Given the description of an element on the screen output the (x, y) to click on. 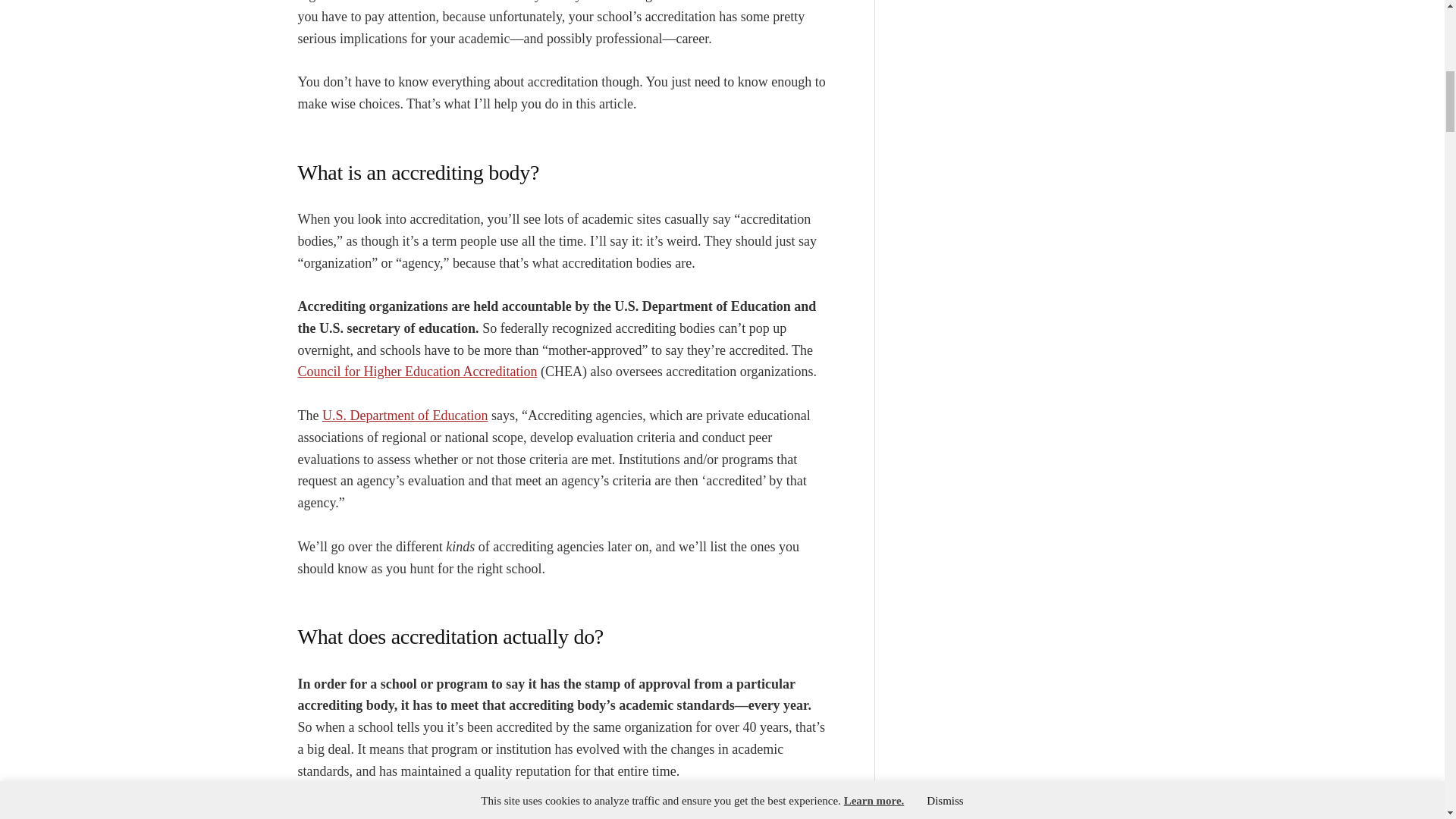
Council for Higher Education Accreditation (417, 371)
U.S. Department of Education (404, 415)
